Given the description of an element on the screen output the (x, y) to click on. 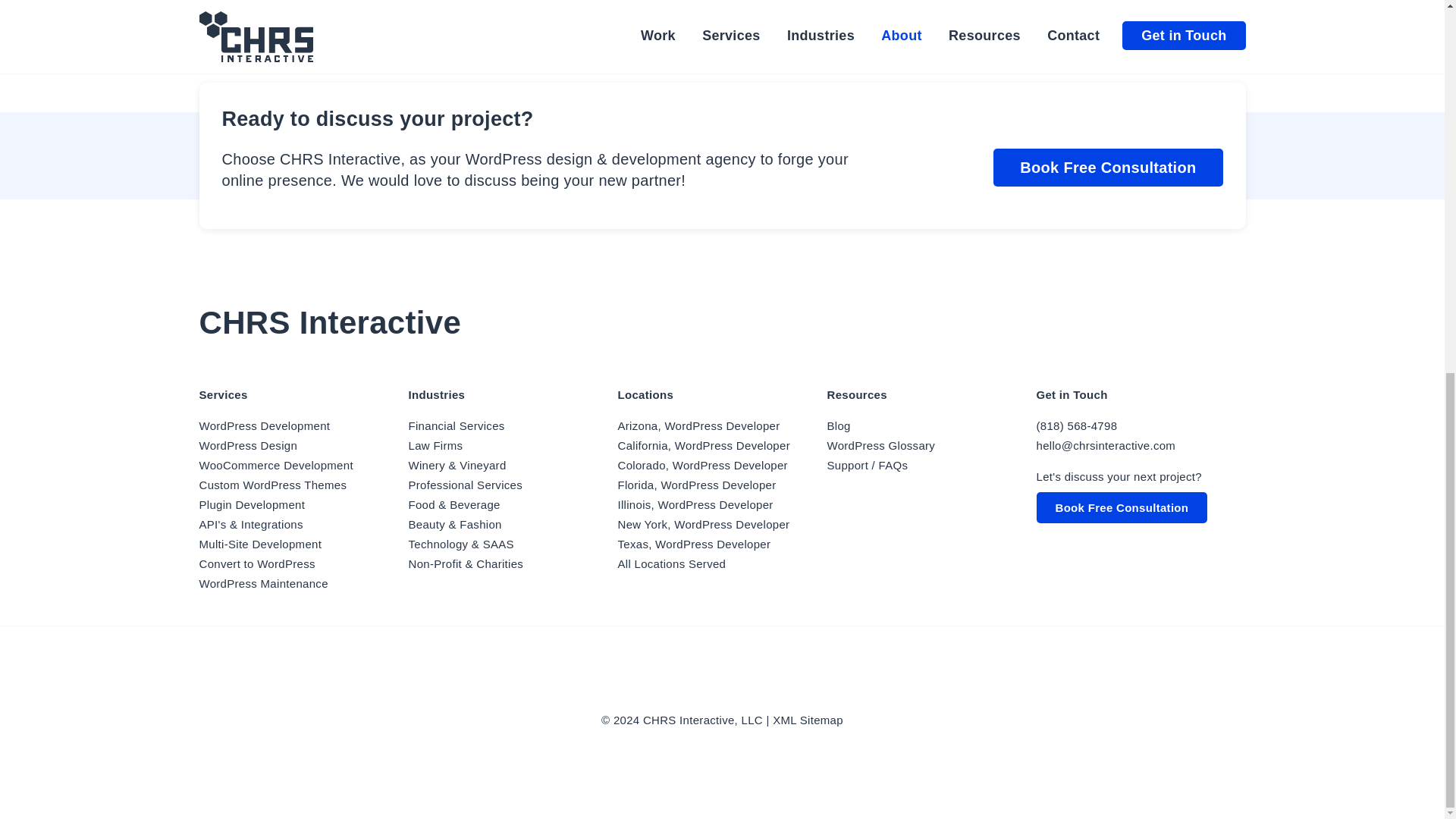
WordPress Glossary (671, 563)
CHRS Interactive Google Business (743, 682)
WooCommerce Development (275, 464)
Convert to WordPress (256, 563)
WordPress Developer Locations (880, 445)
Illinois (695, 504)
Florida (696, 484)
California (703, 445)
Book Free Consultation (1107, 167)
Plugin Development (251, 504)
